Given the description of an element on the screen output the (x, y) to click on. 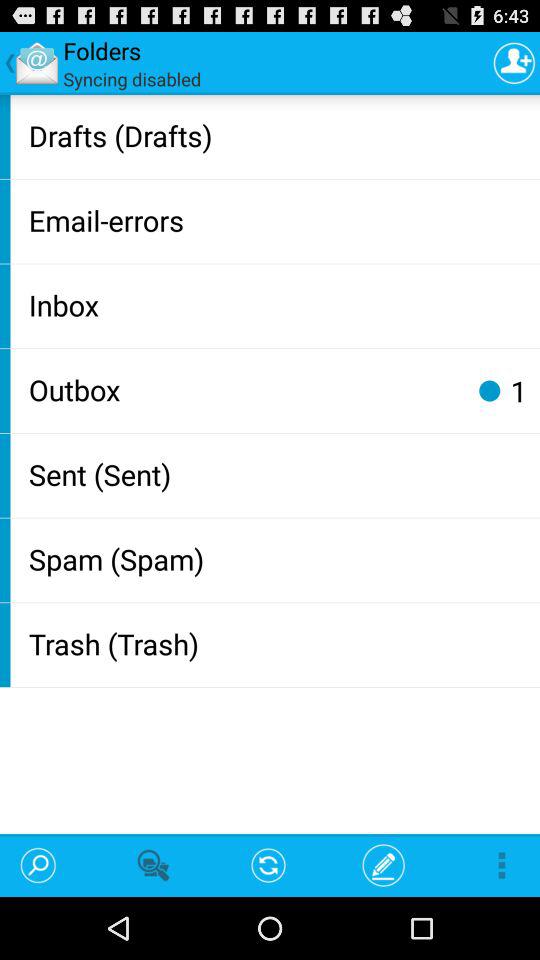
turn on item below email-errors app (280, 304)
